Given the description of an element on the screen output the (x, y) to click on. 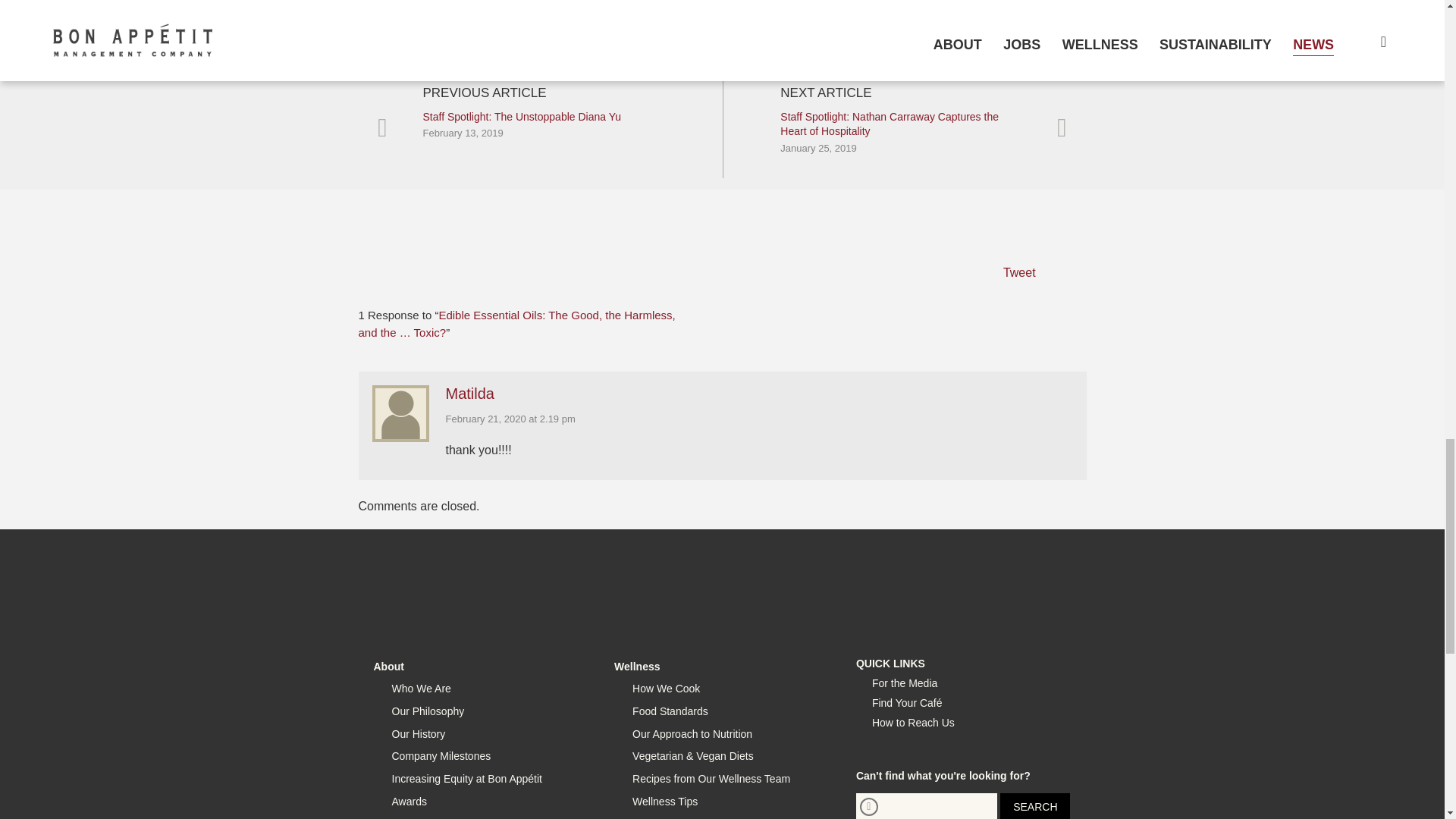
Search (1035, 806)
